Given the description of an element on the screen output the (x, y) to click on. 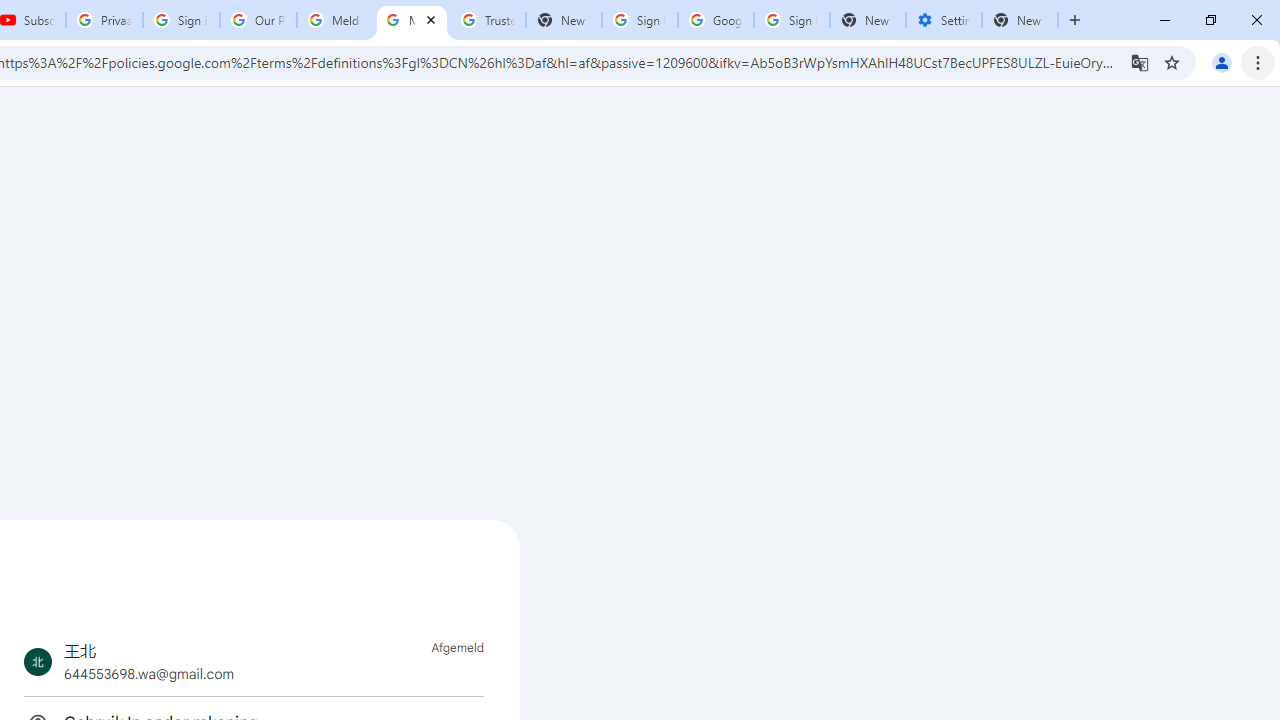
Sign in - Google Accounts (181, 20)
New Tab (1019, 20)
